Given the description of an element on the screen output the (x, y) to click on. 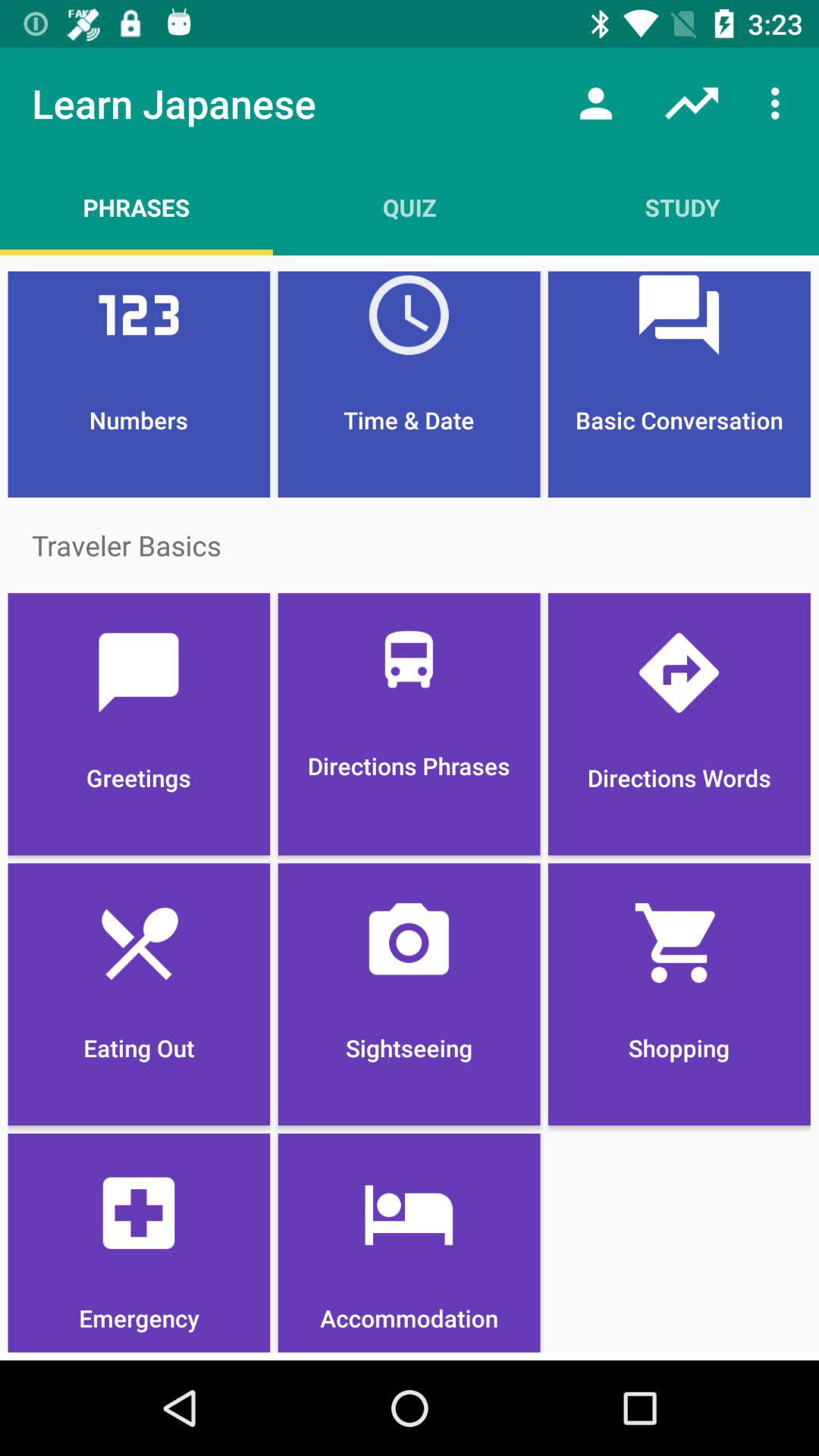
open the item above time & date item (682, 207)
